Given the description of an element on the screen output the (x, y) to click on. 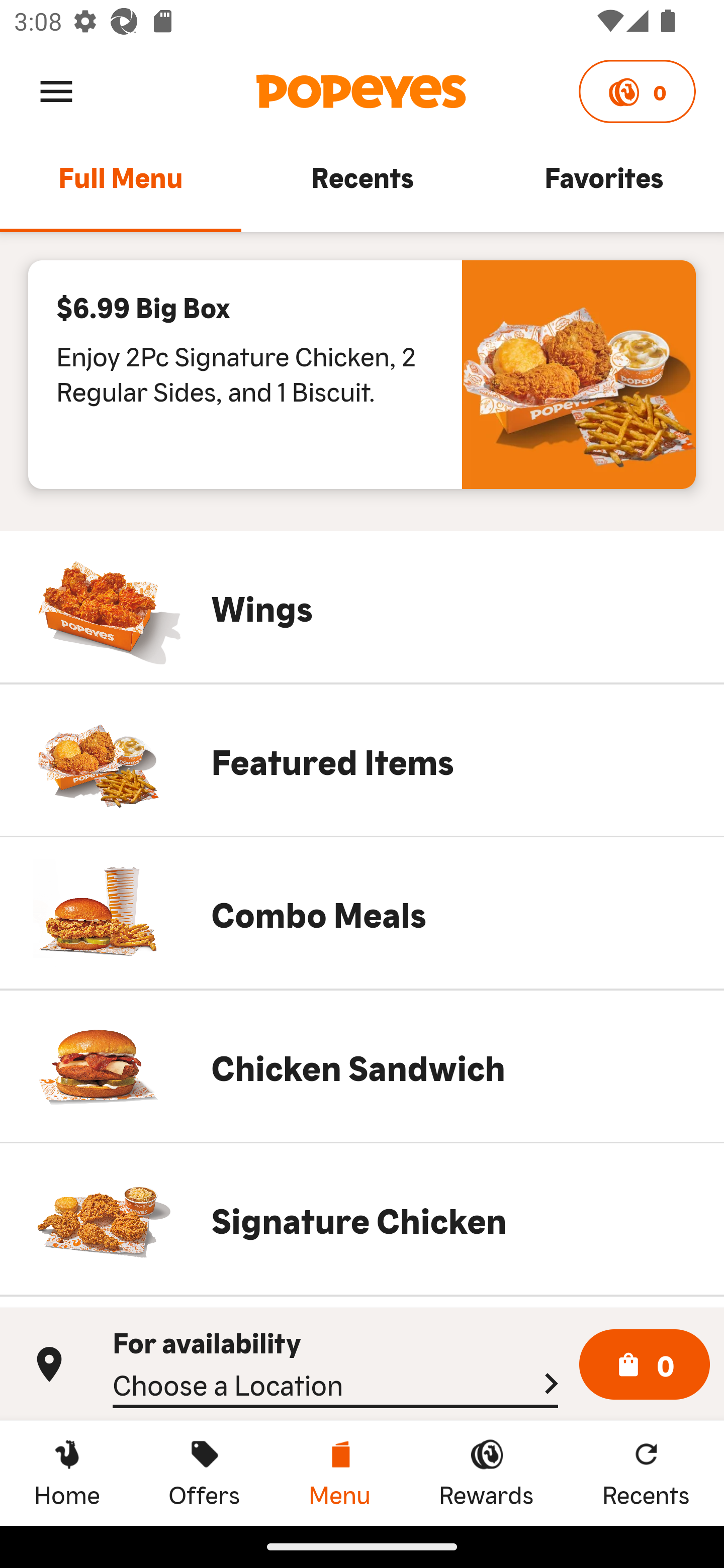
Menu  (56, 90)
0 Points 0 (636, 91)
Full Menu (120, 186)
Recents (361, 186)
Favorites (603, 186)
Wings, Wings Wings Wings (362, 606)
0 Cart total  0 (644, 1364)
Home Home Home (66, 1472)
Offers Offers Offers (203, 1472)
Menu, current page Menu Menu, current page (339, 1472)
Rewards Rewards Rewards (486, 1472)
Recents Recents Recents (646, 1472)
